Given the description of an element on the screen output the (x, y) to click on. 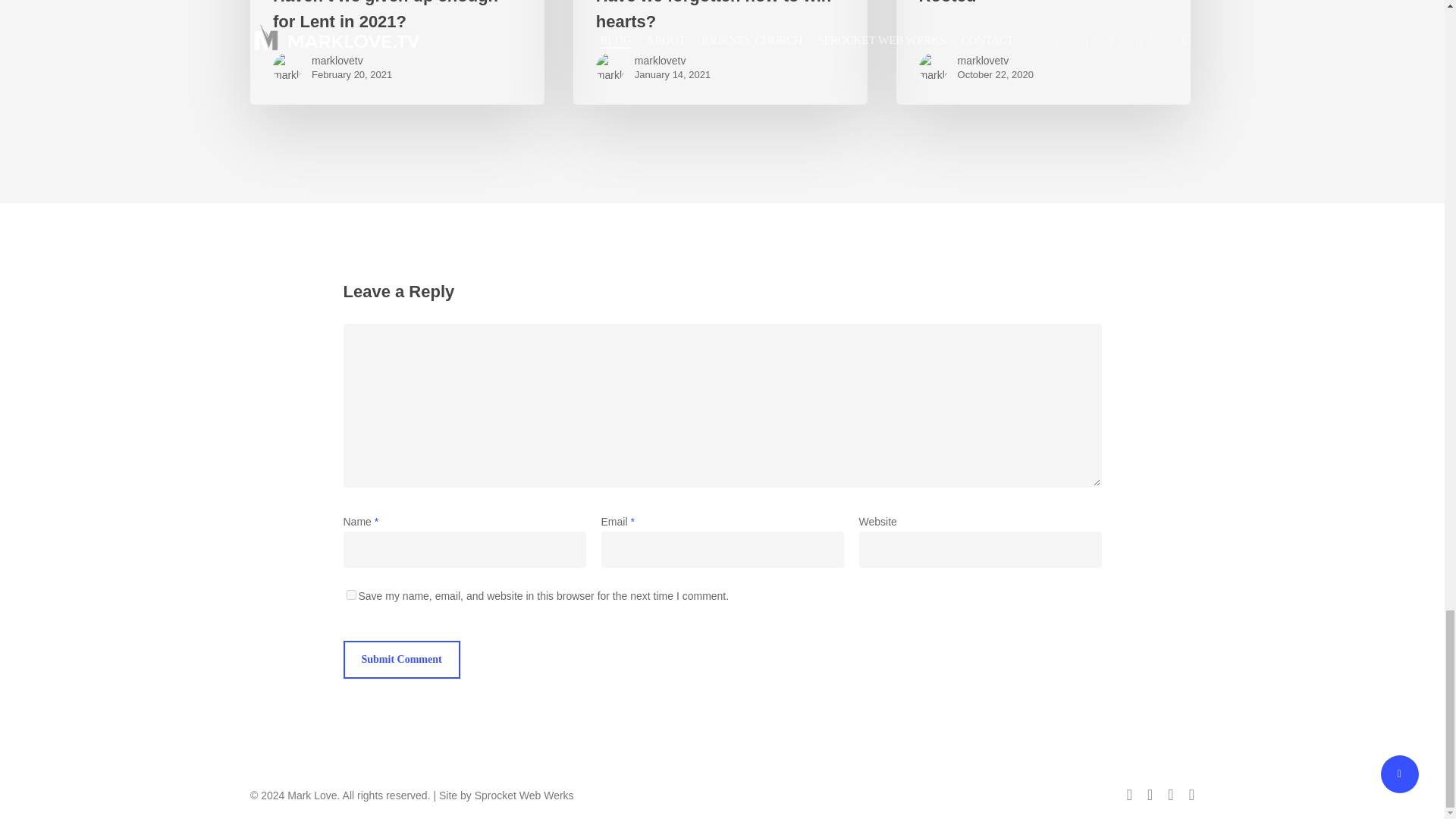
yes (350, 594)
marklovetv (995, 60)
Submit Comment (401, 659)
Submit Comment (401, 659)
marklovetv (351, 60)
marklovetv (672, 60)
